Given the description of an element on the screen output the (x, y) to click on. 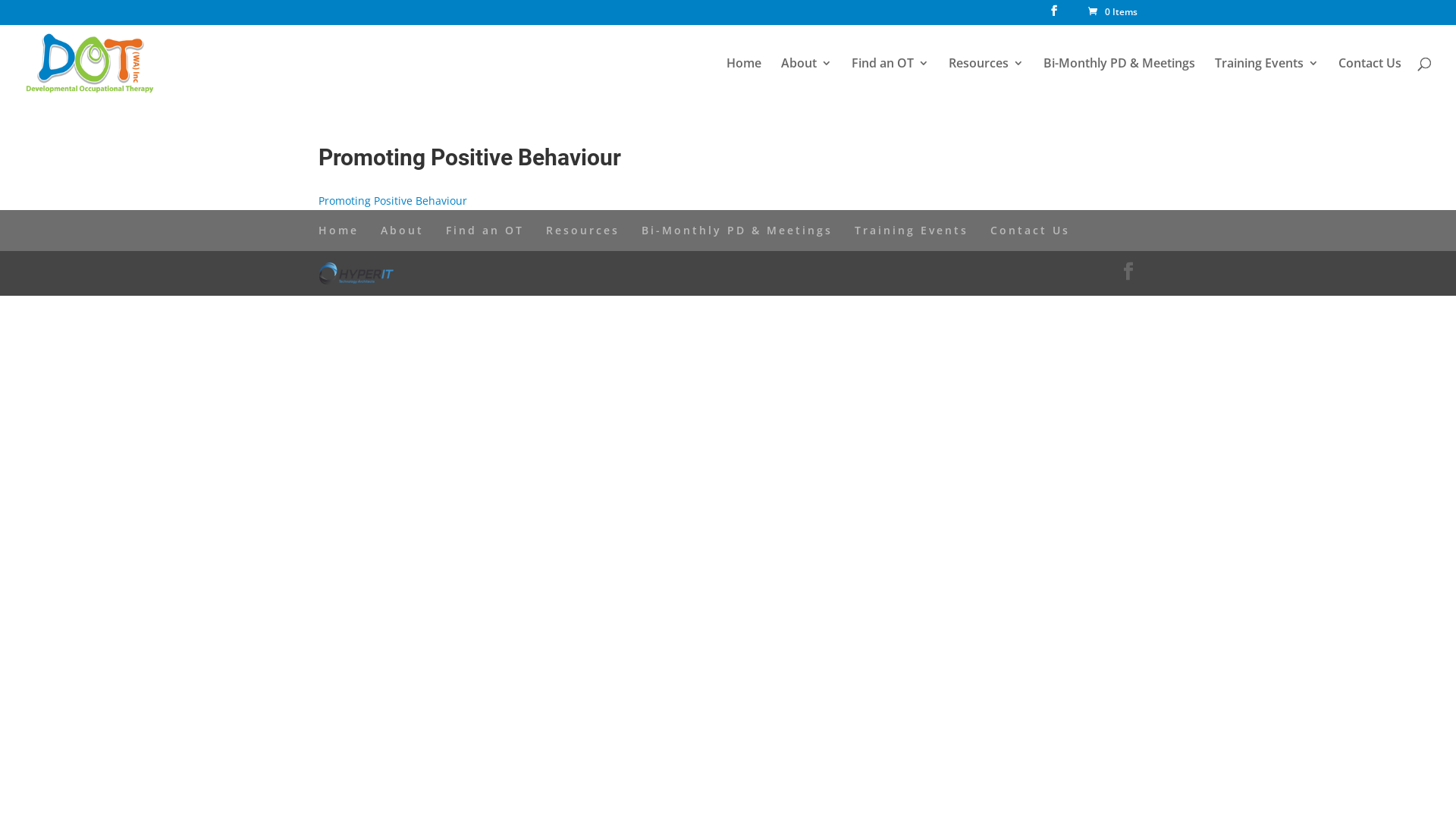
About Element type: text (401, 229)
Find an OT Element type: text (889, 75)
Promoting Positive Behaviour Element type: text (392, 200)
Resources Element type: text (985, 75)
Bi-Monthly PD & Meetings Element type: text (1119, 75)
About Element type: text (806, 75)
Training Events Element type: text (911, 229)
Home Element type: text (743, 75)
Resources Element type: text (582, 229)
Training Events Element type: text (1266, 75)
Skip to content Element type: text (0, 0)
Contact Us Element type: text (1369, 75)
Home Element type: text (338, 229)
Contact Us Element type: text (1030, 229)
0 Items Element type: text (1111, 11)
Find an OT Element type: text (484, 229)
Bi-Monthly PD & Meetings Element type: text (736, 229)
